Given the description of an element on the screen output the (x, y) to click on. 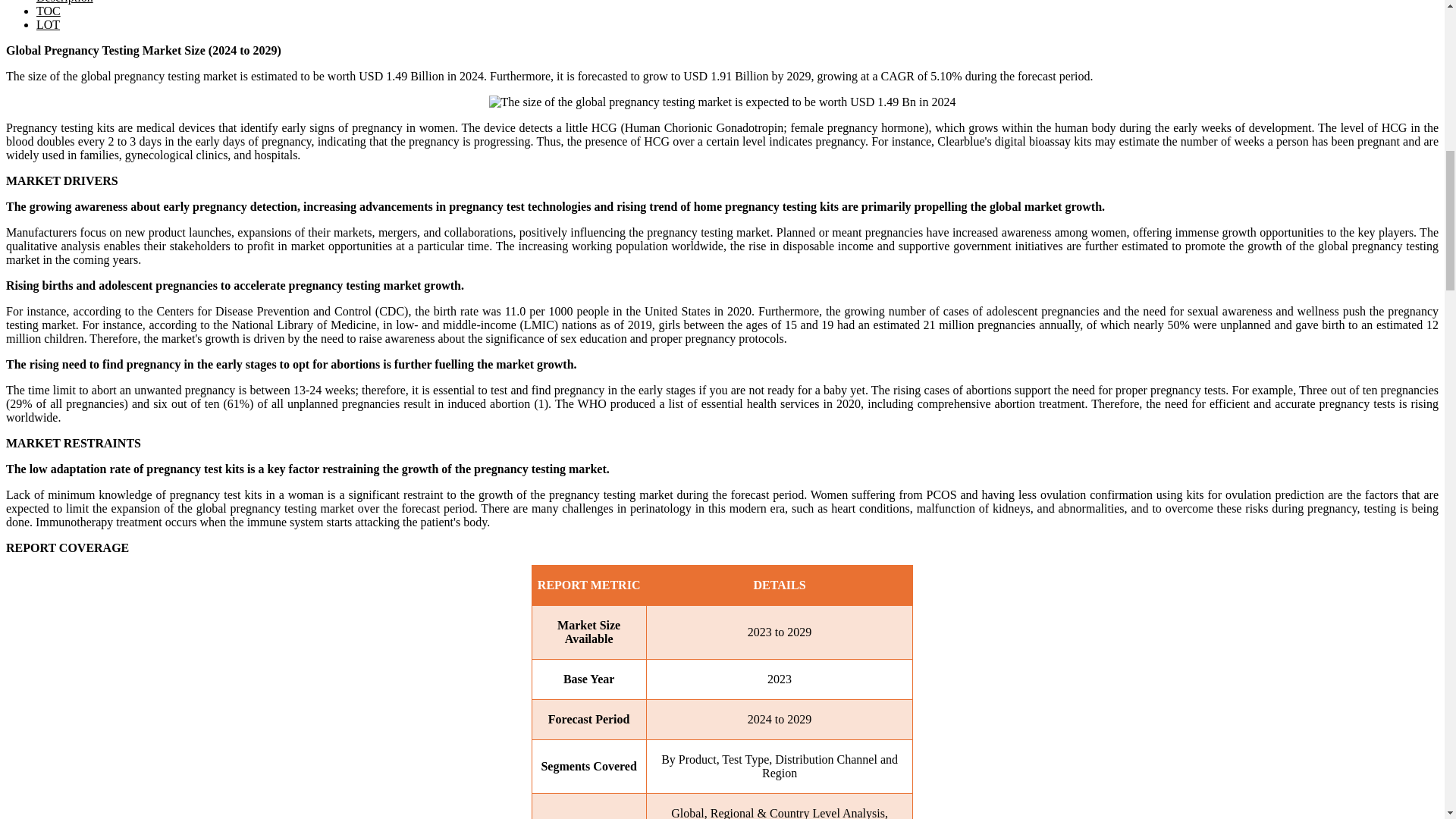
Description (64, 2)
TOC (48, 10)
LOT (47, 24)
